Given the description of an element on the screen output the (x, y) to click on. 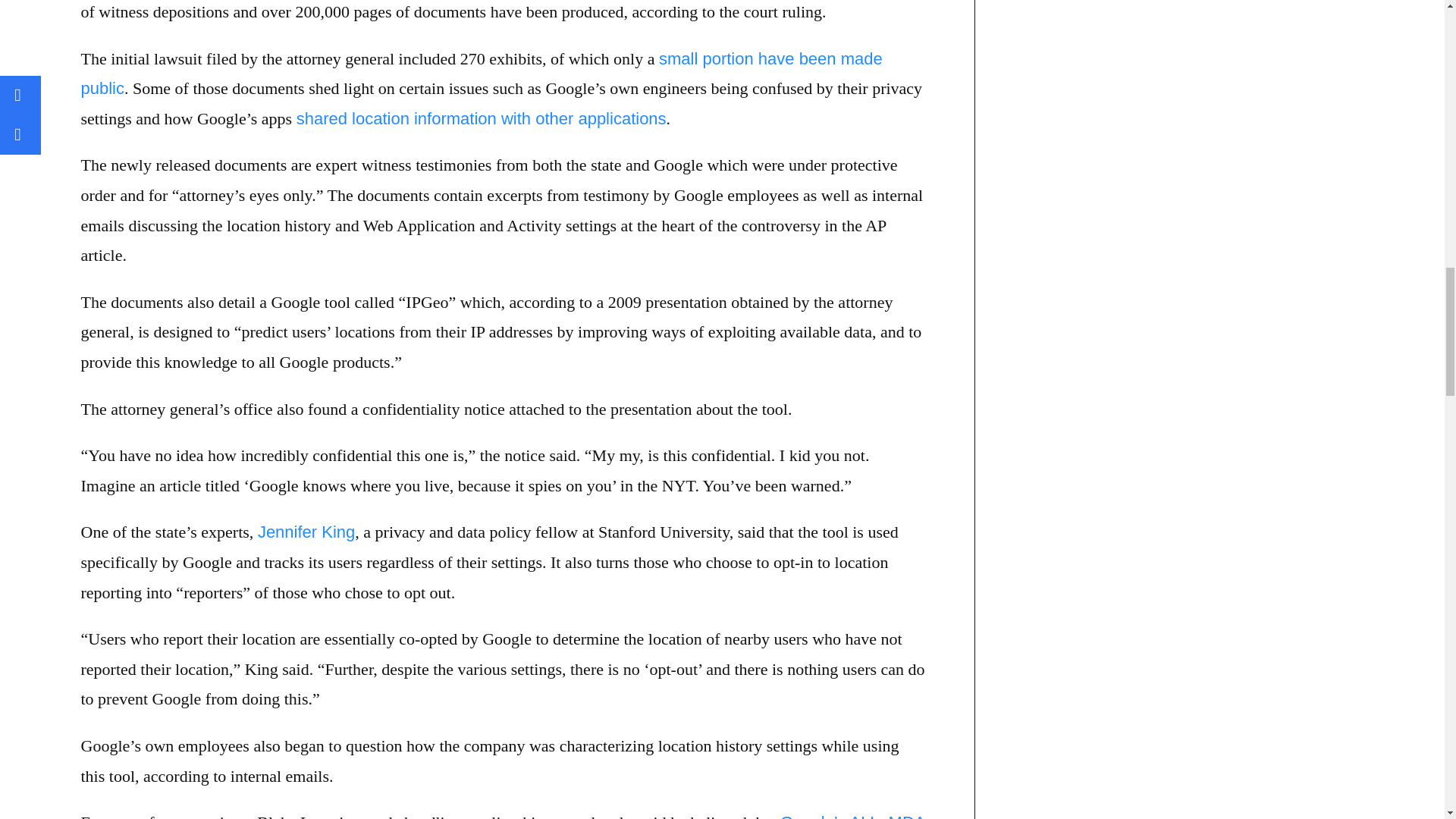
Jennifer King (306, 531)
small portion have been made public (481, 73)
shared location information with other applications (481, 117)
